Given the description of an element on the screen output the (x, y) to click on. 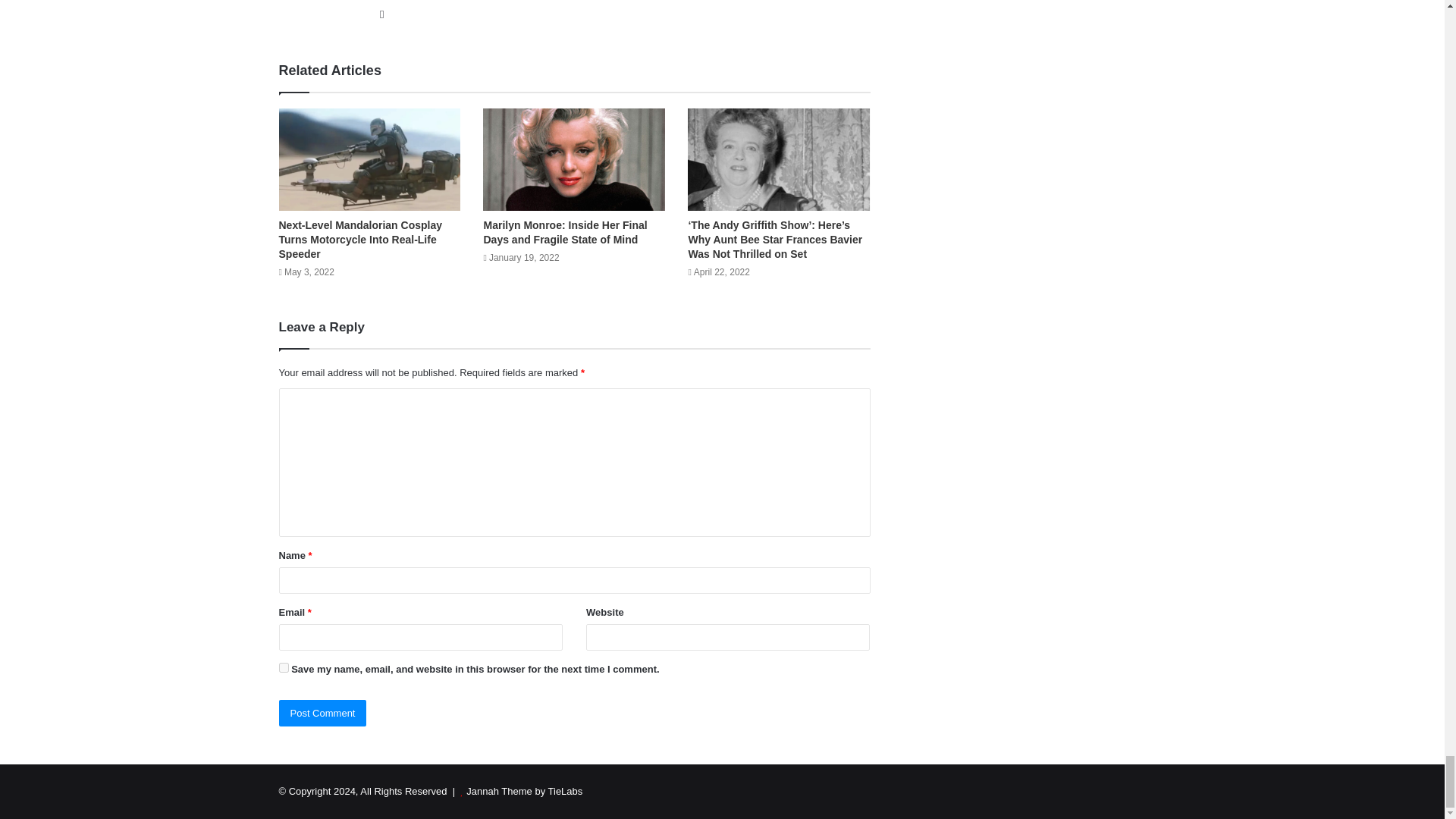
yes (283, 667)
Post Comment (322, 713)
Website (381, 13)
Post Comment (322, 713)
